Given the description of an element on the screen output the (x, y) to click on. 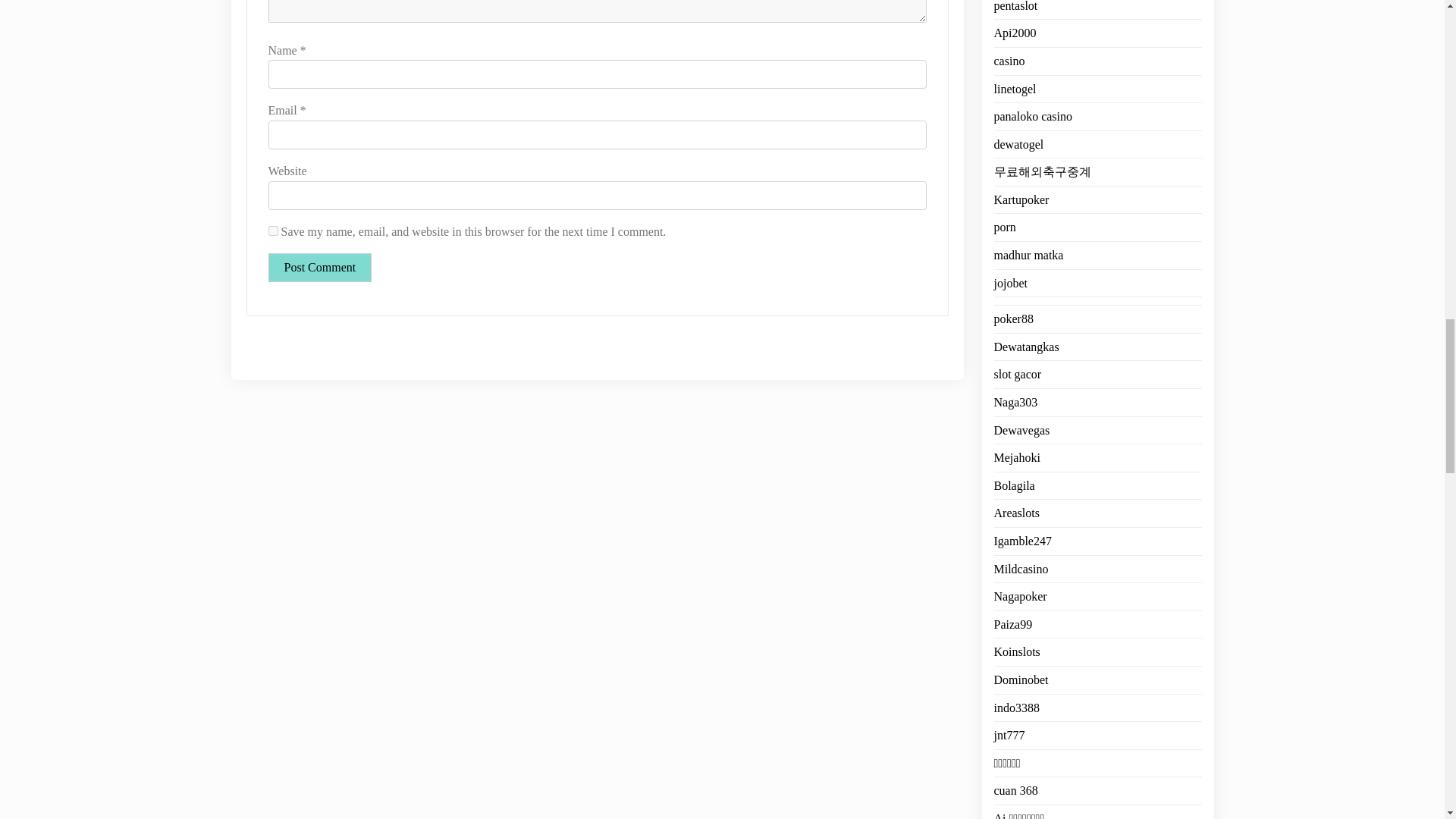
Post Comment (319, 267)
yes (272, 230)
Post Comment (319, 267)
